Given the description of an element on the screen output the (x, y) to click on. 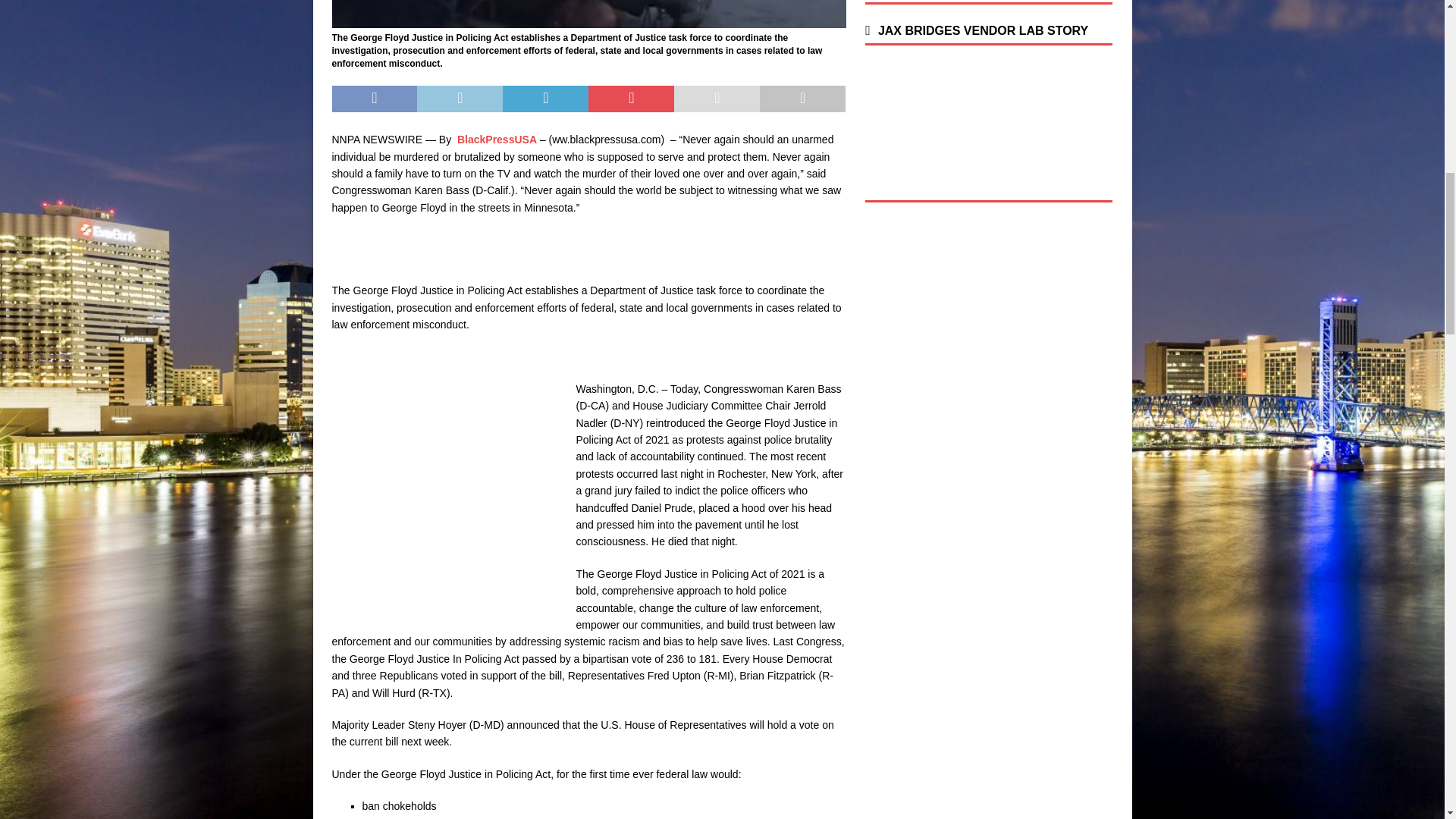
george-floyd-featured-web-1 (588, 13)
